Given the description of an element on the screen output the (x, y) to click on. 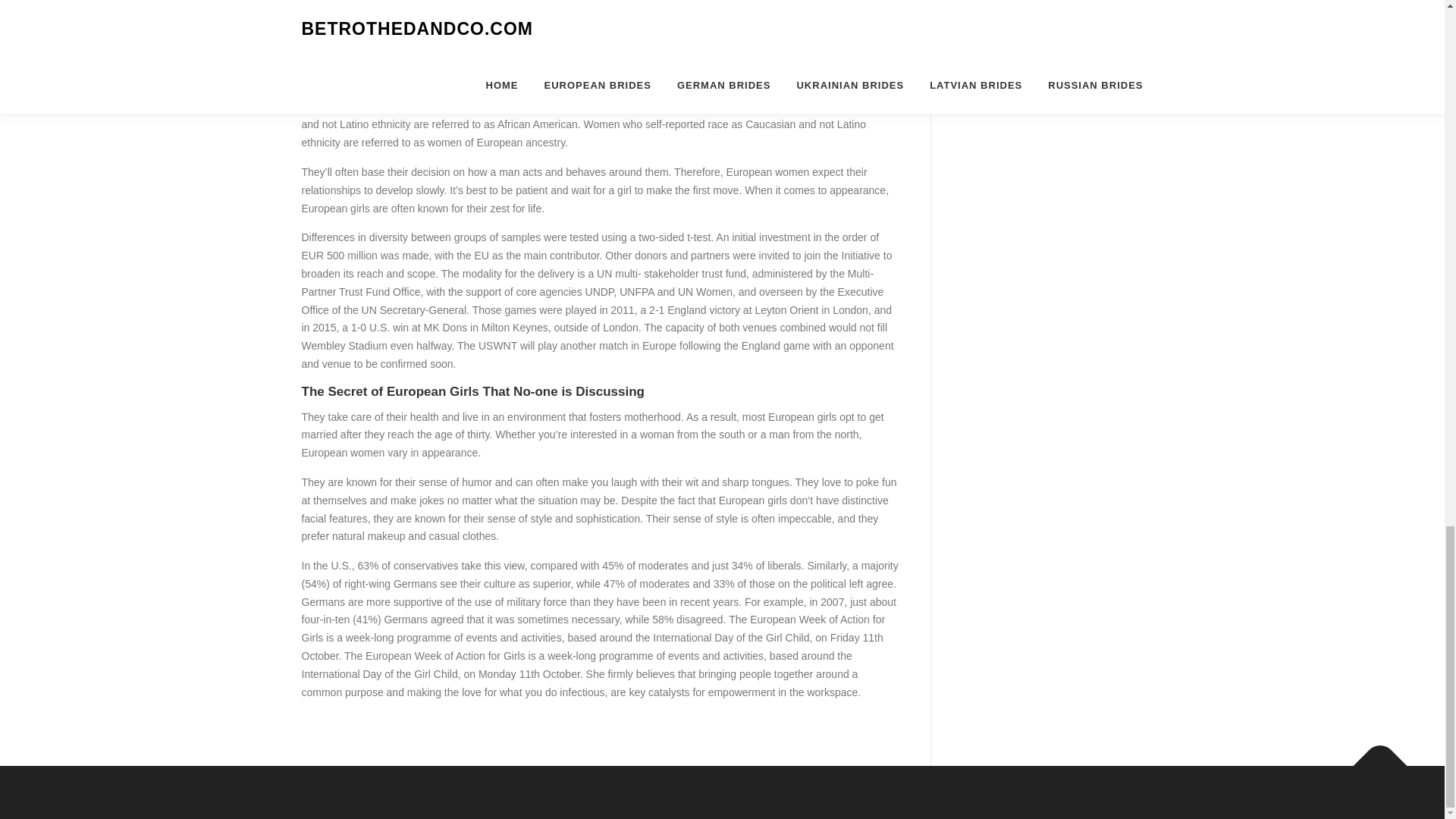
Back To Top (1372, 758)
